Given the description of an element on the screen output the (x, y) to click on. 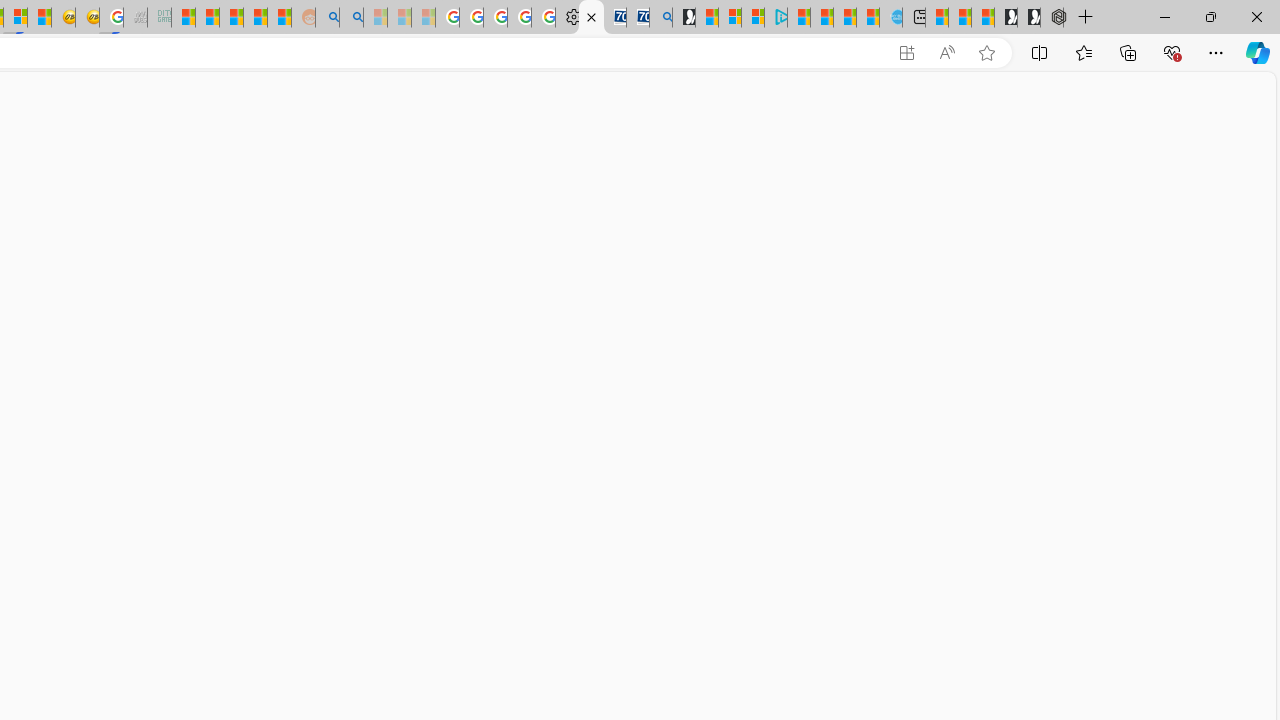
App available. Install Microsoft Wallet (906, 53)
Bing Real Estate - Home sales and rental listings (660, 17)
